Given the description of an element on the screen output the (x, y) to click on. 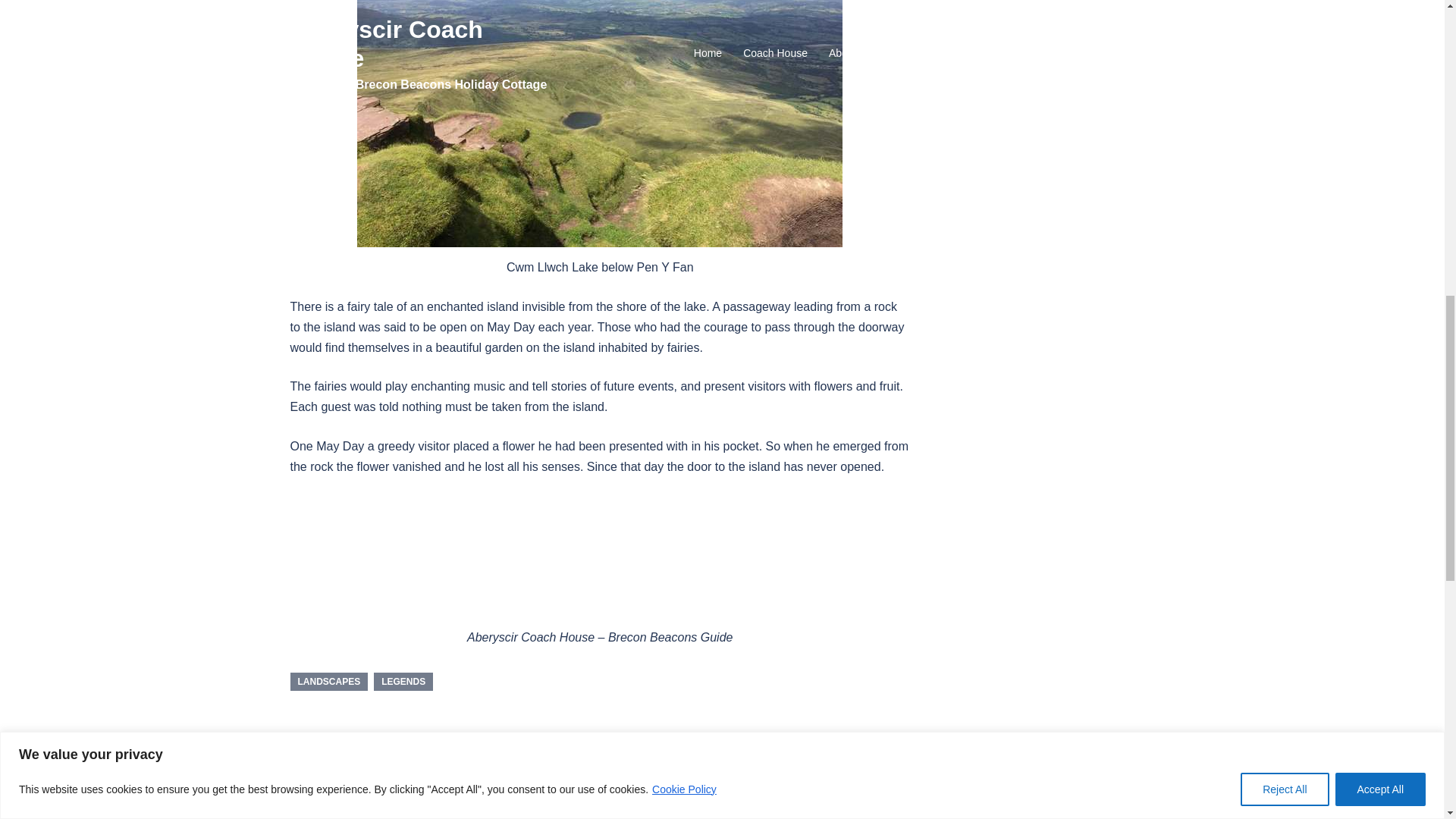
LANDSCAPES (328, 681)
LEGENDS (403, 681)
Tour the Brecon Beacons by Trike (438, 769)
